Given the description of an element on the screen output the (x, y) to click on. 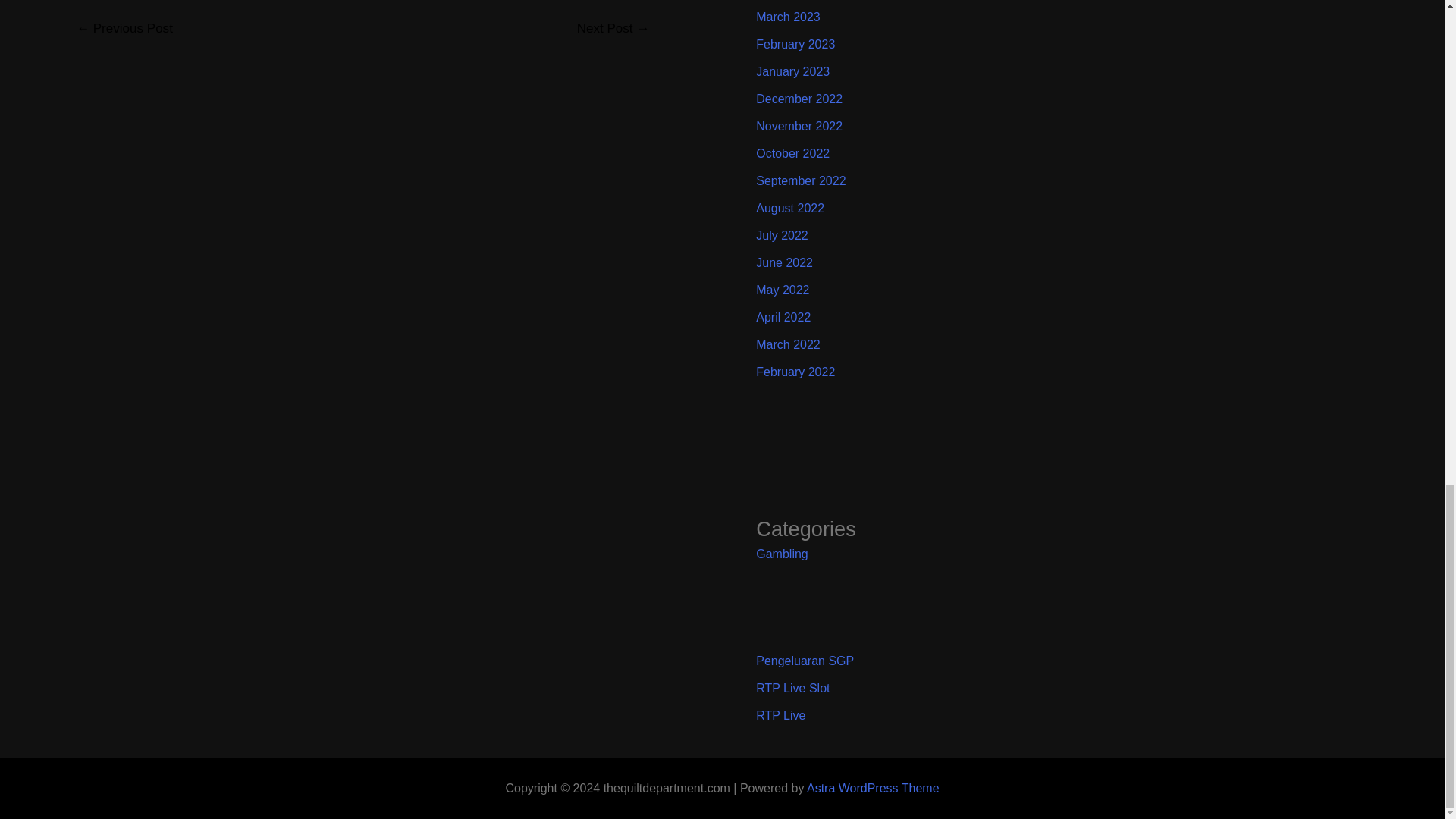
March 2023 (788, 16)
